Given the description of an element on the screen output the (x, y) to click on. 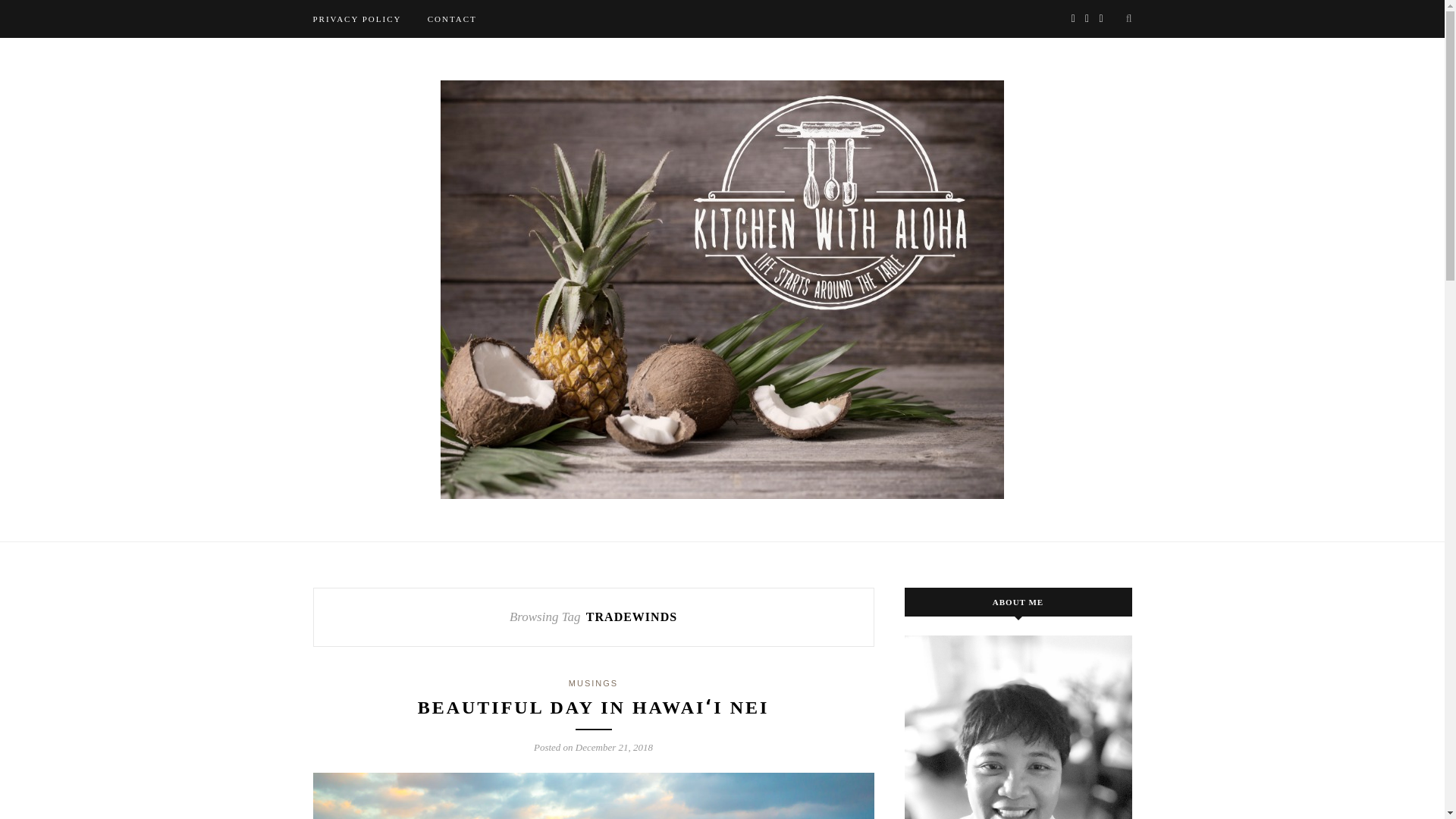
MUSINGS (593, 682)
CONTACT (452, 18)
PRIVACY POLICY (357, 18)
